Given the description of an element on the screen output the (x, y) to click on. 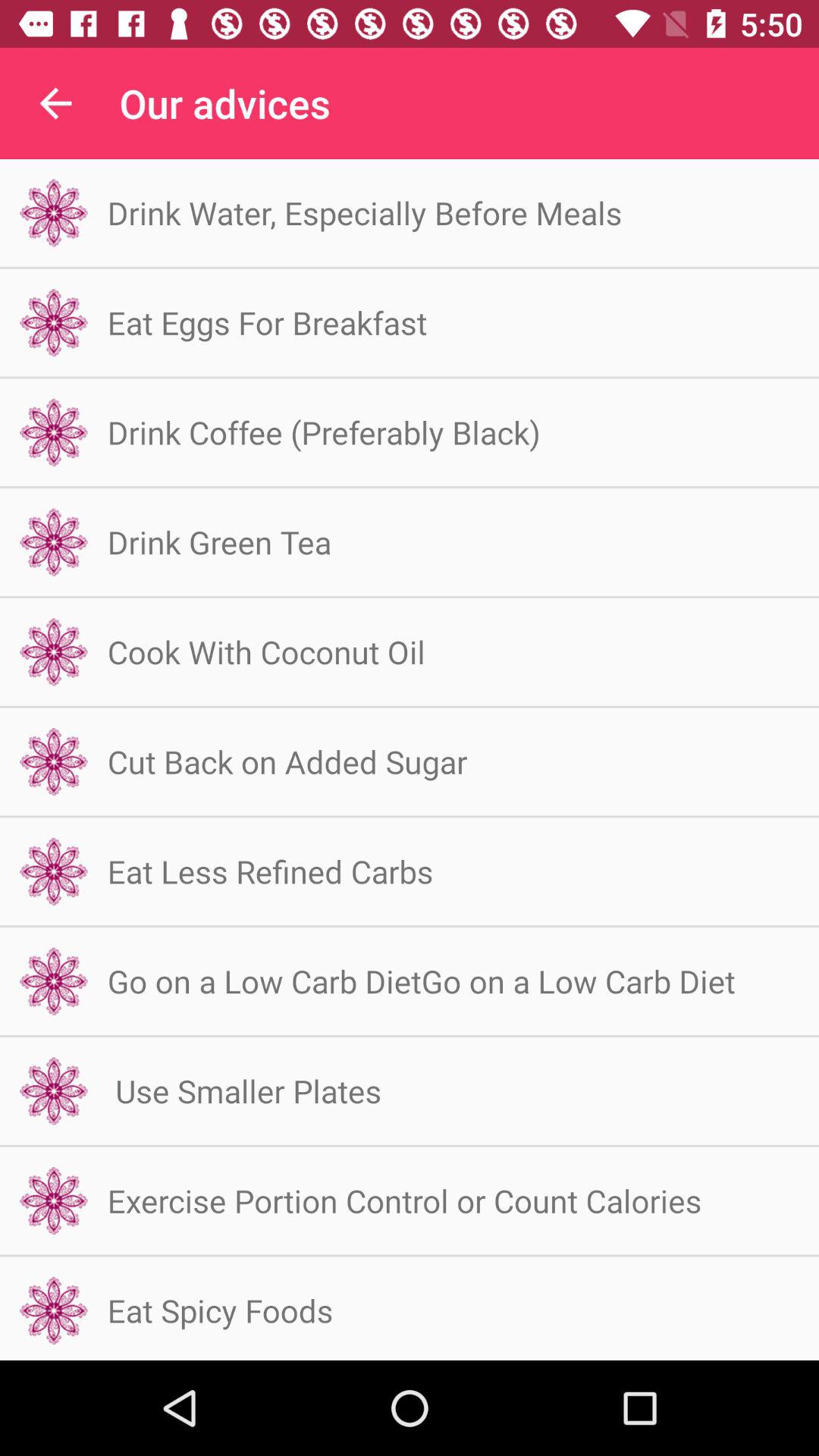
click the item next to the our advices app (55, 103)
